Given the description of an element on the screen output the (x, y) to click on. 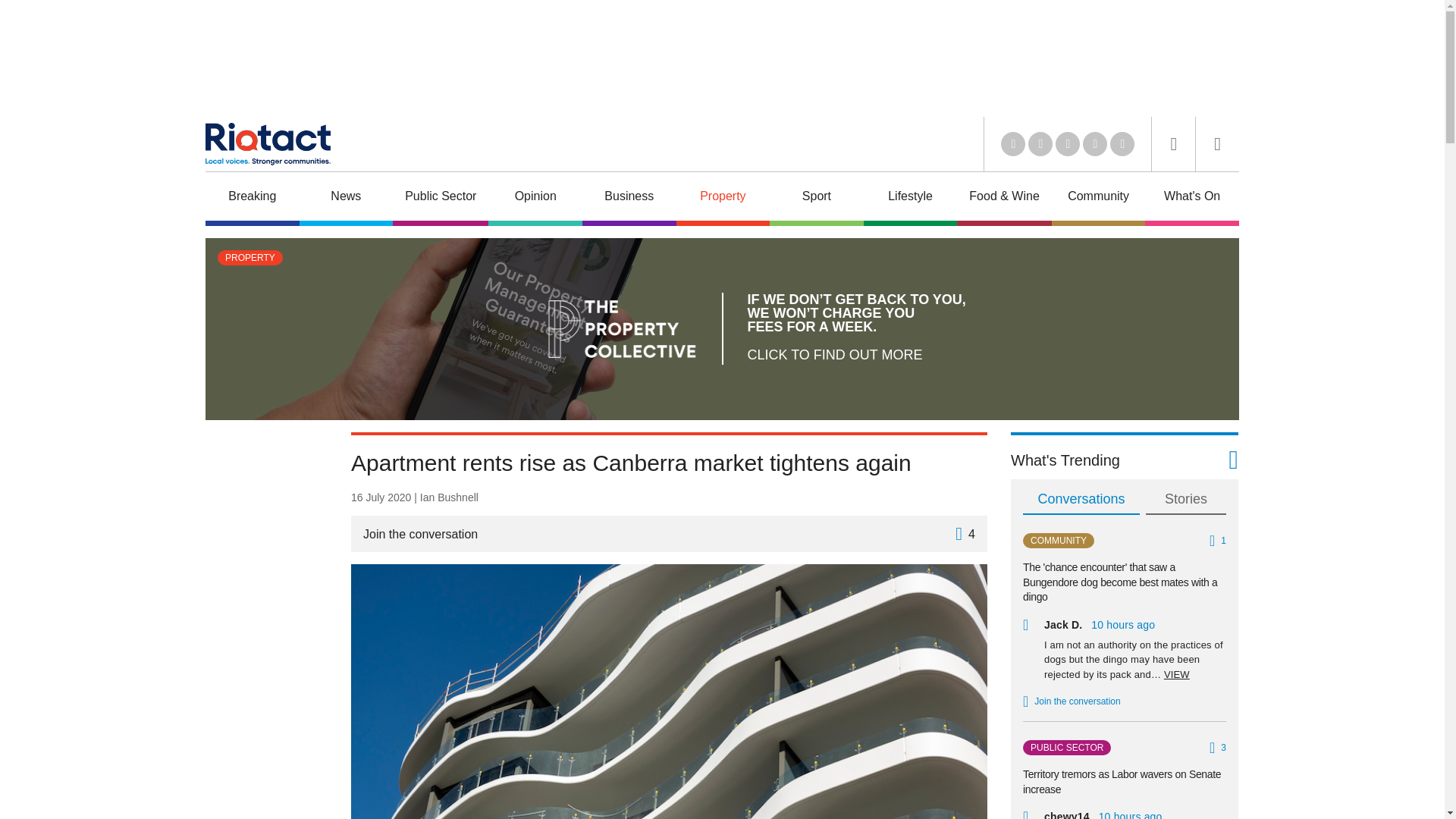
LinkedIn (1013, 143)
Youtube (1067, 143)
News (346, 198)
Instagram (1121, 143)
Riotact Home (267, 143)
Facebook (1094, 143)
Breaking (252, 198)
Twitter (1039, 143)
